Given the description of an element on the screen output the (x, y) to click on. 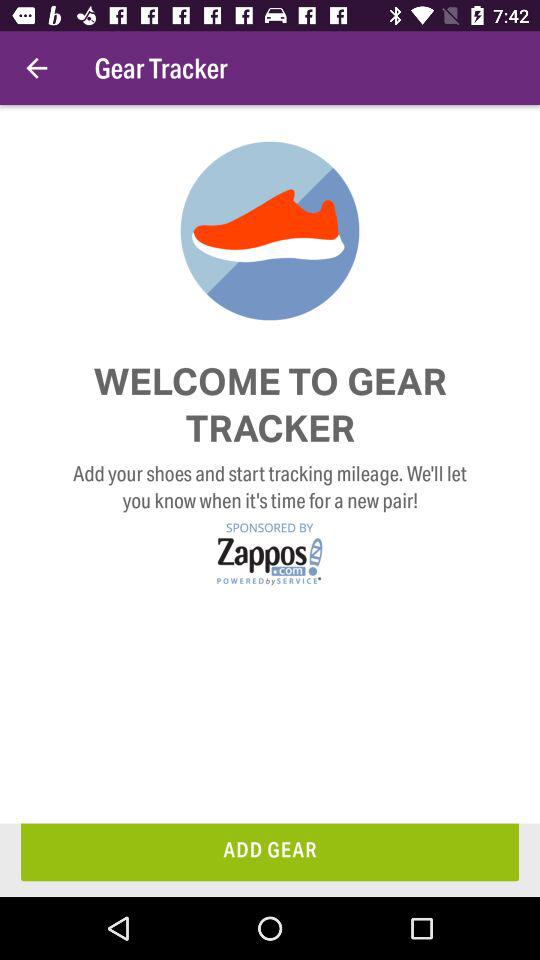
press icon above welcome to gear icon (36, 68)
